Given the description of an element on the screen output the (x, y) to click on. 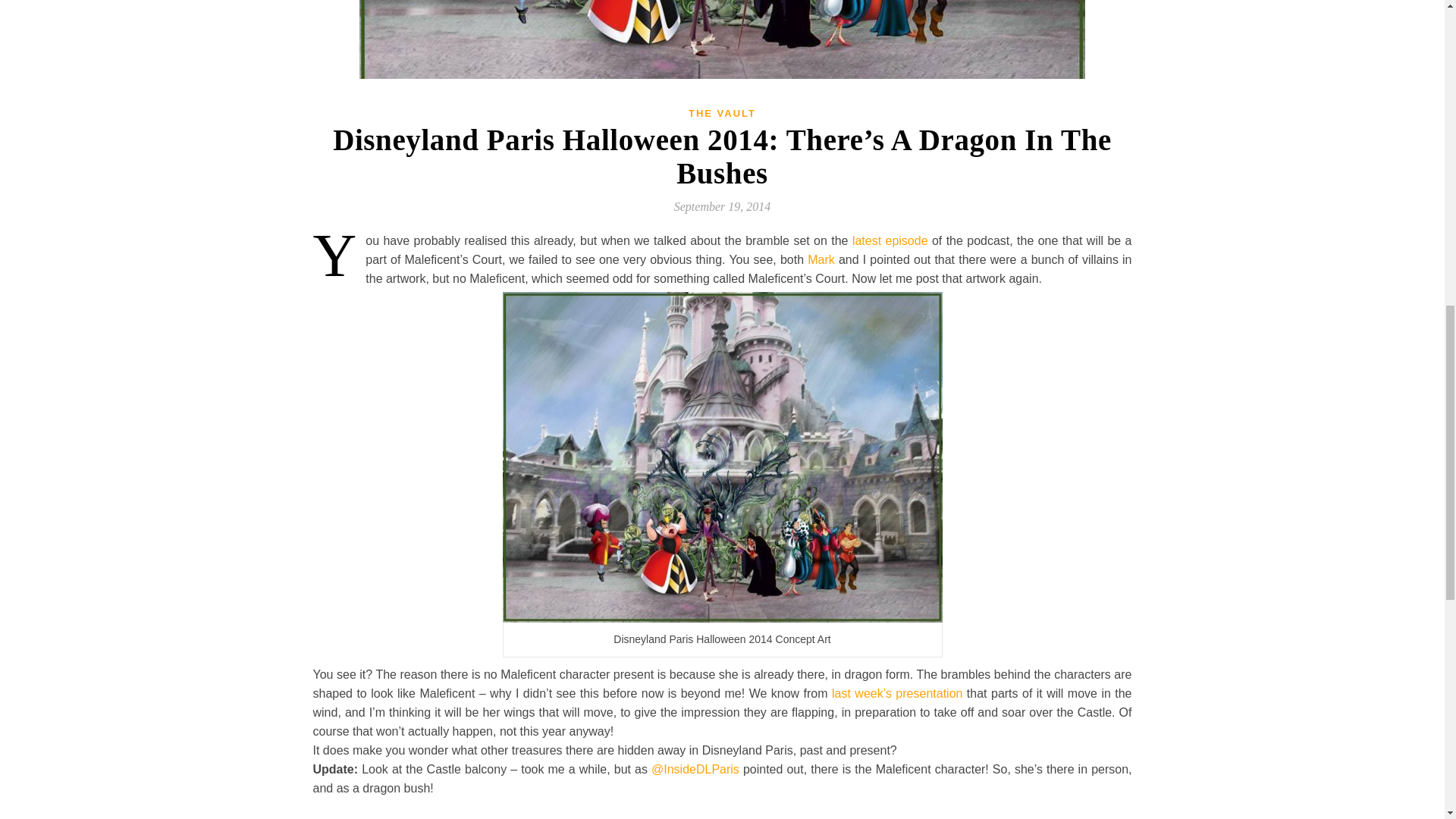
Mark (821, 259)
THE VAULT (721, 112)
latest episode (889, 240)
